Given the description of an element on the screen output the (x, y) to click on. 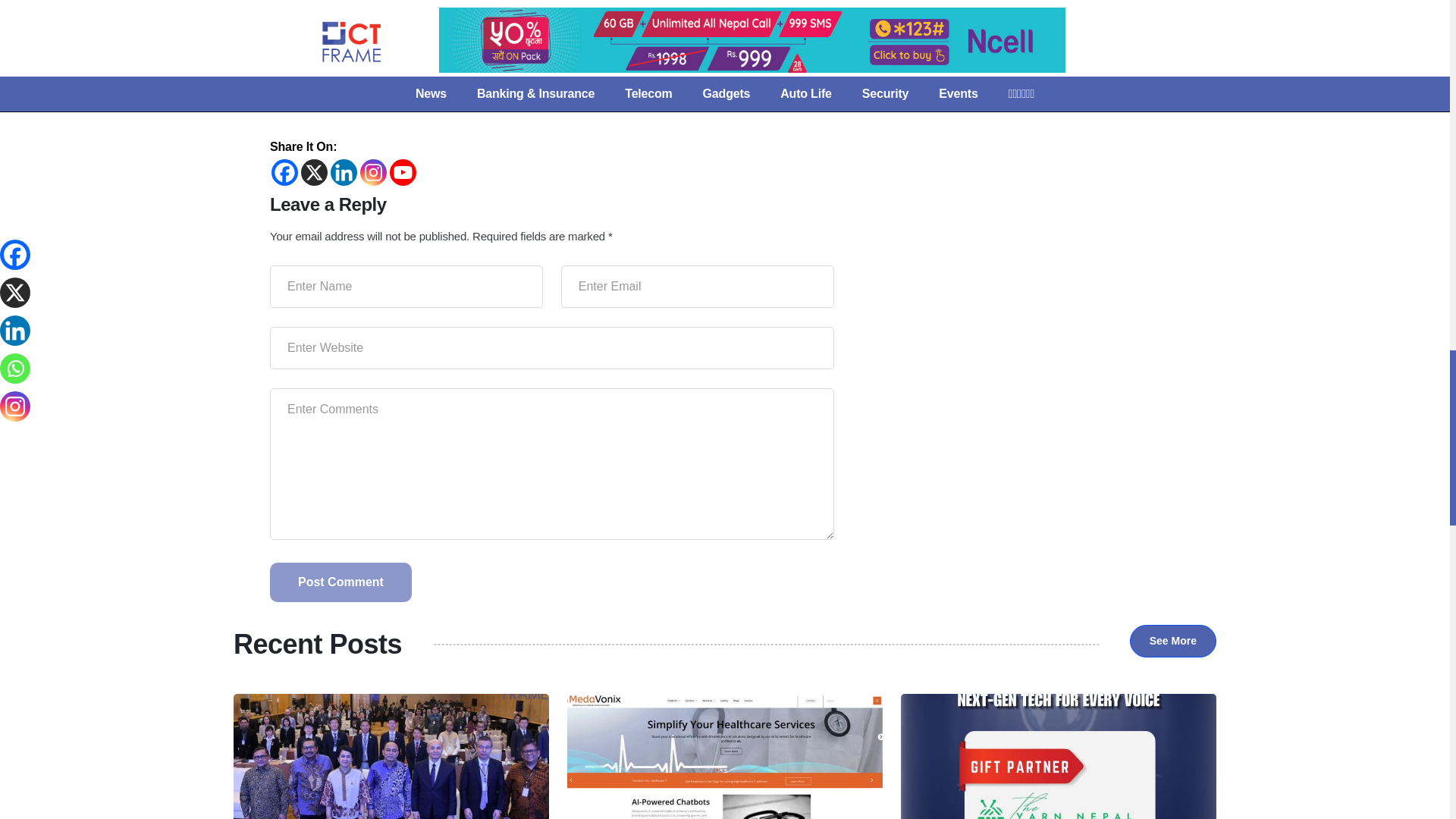
X (314, 171)
Linkedin (343, 171)
Youtube (403, 171)
Facebook (284, 171)
Instagram (373, 171)
Post Comment (340, 581)
